Given the description of an element on the screen output the (x, y) to click on. 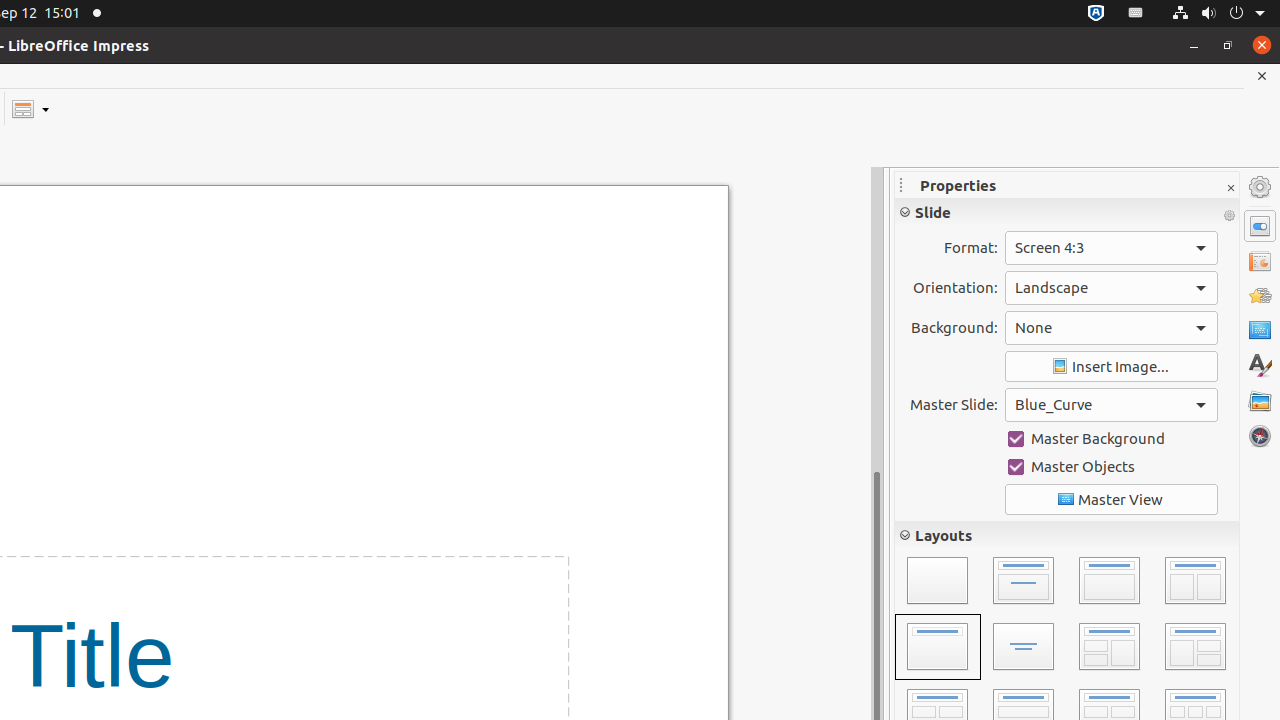
Left Element type: push-button (913, 412)
Slide Layout Element type: push-button (30, 108)
More Options Element type: push-button (1229, 380)
Move Down Element type: push-button (1195, 680)
Decrease Element type: push-button (1107, 487)
